Given the description of an element on the screen output the (x, y) to click on. 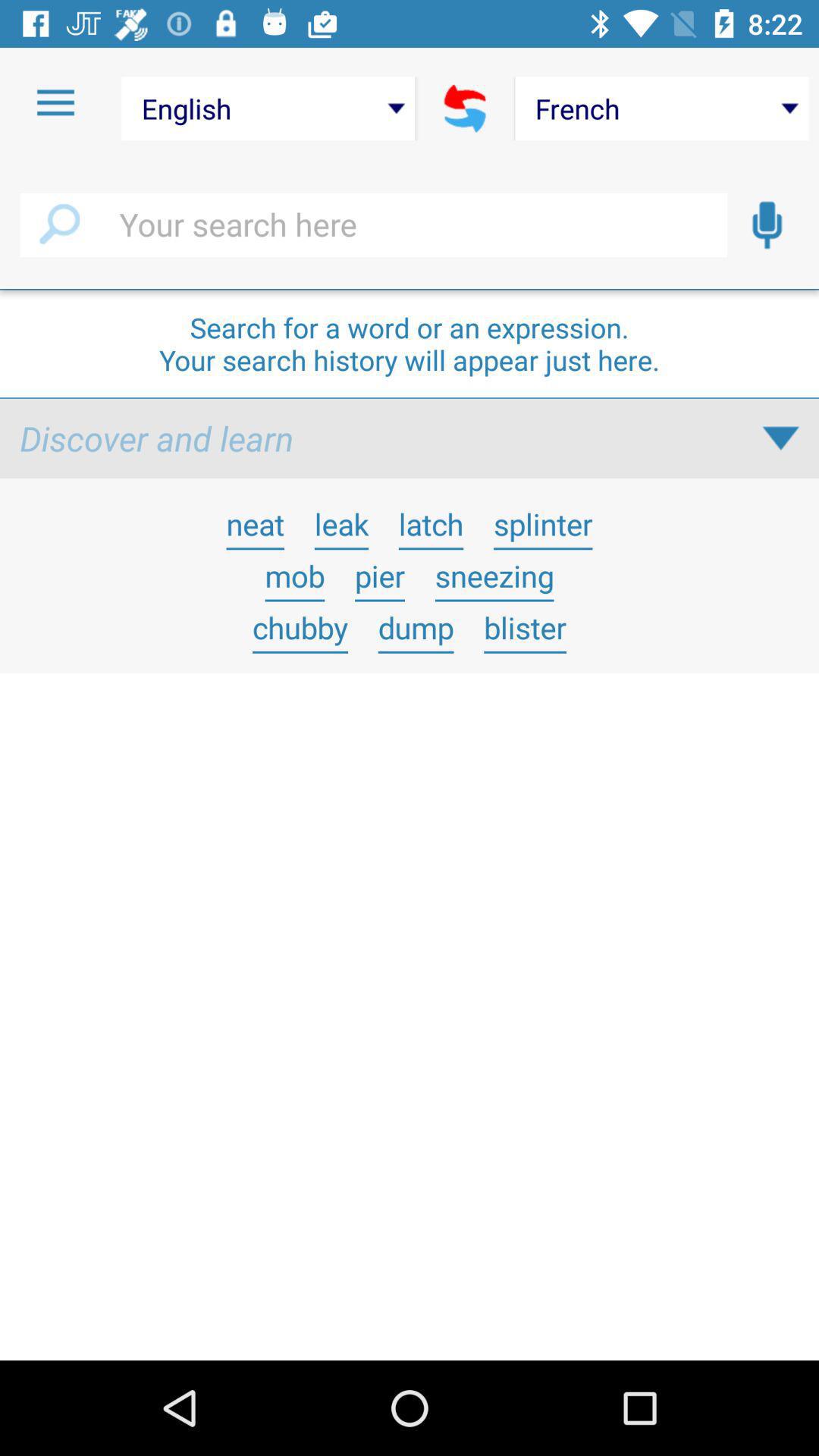
open voice search (767, 225)
